Given the description of an element on the screen output the (x, y) to click on. 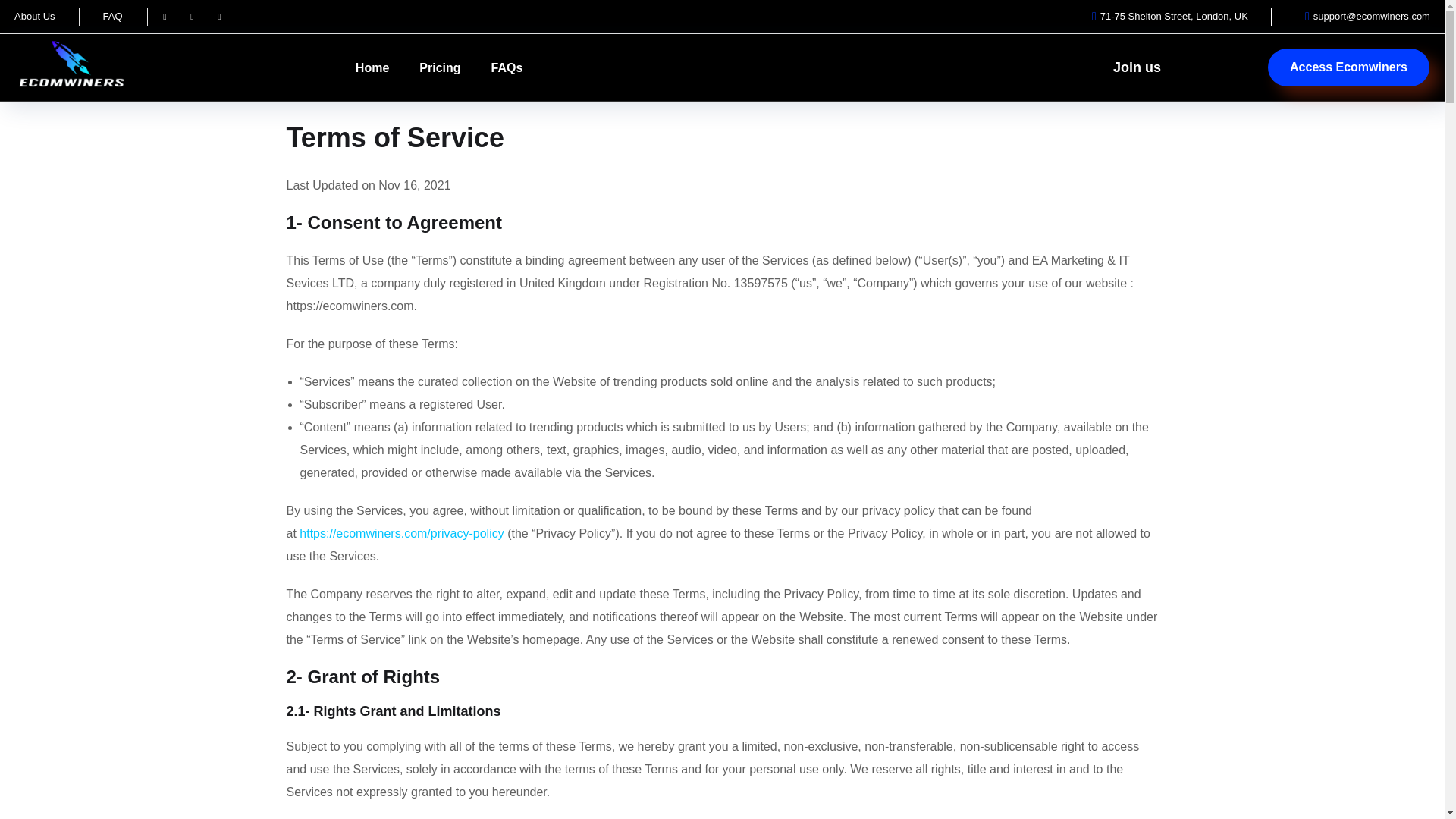
Join us (1136, 67)
71-75 Shelton Street, London, UK (1164, 16)
About Us (34, 16)
Access Ecomwiners (1348, 67)
FAQ (112, 16)
